Given the description of an element on the screen output the (x, y) to click on. 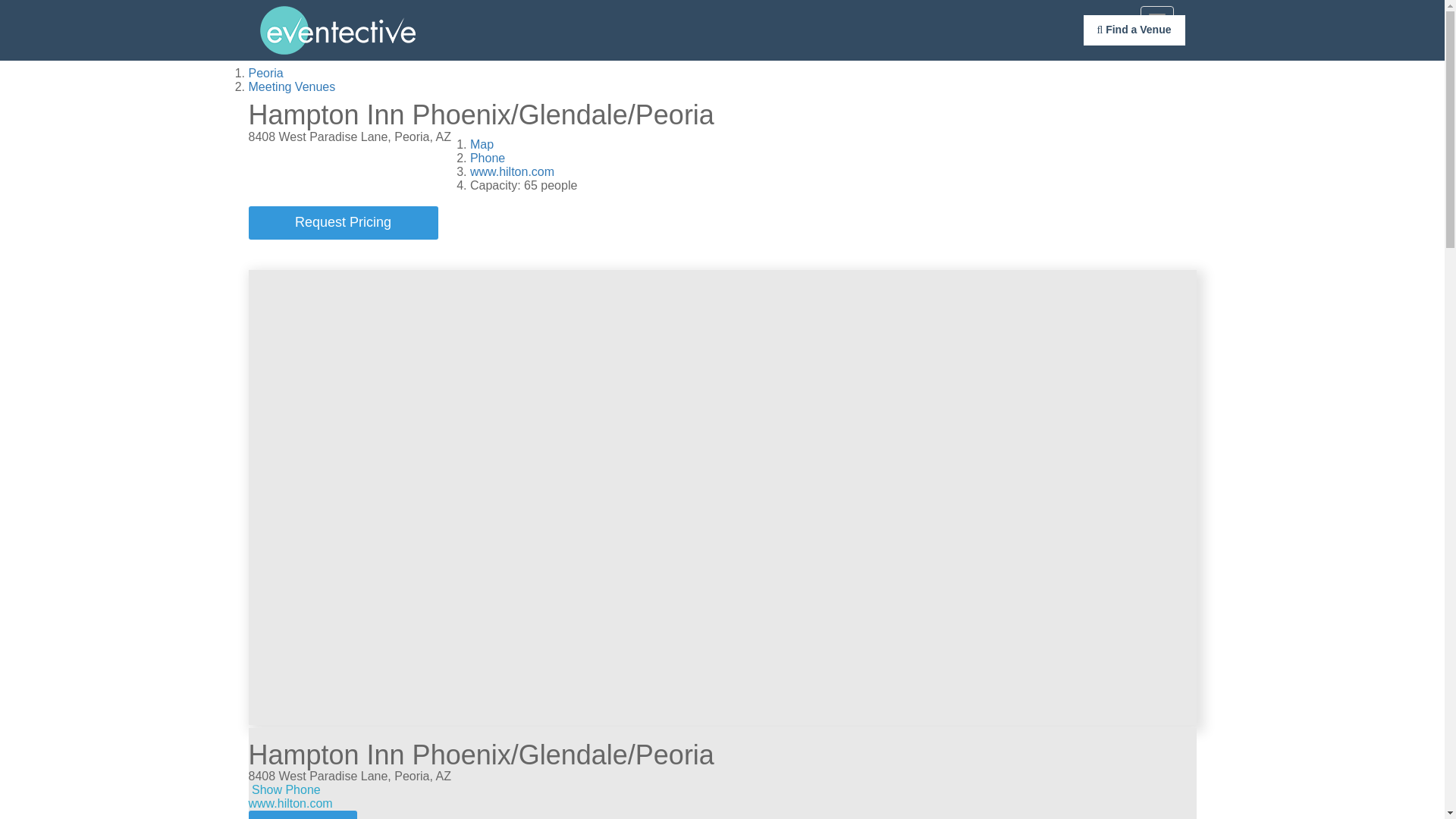
Show Phone (285, 789)
www.hilton.com (290, 802)
Map (481, 144)
www.hilton.com (512, 171)
Peoria (265, 72)
Meeting Venues (292, 86)
Request Pricing (343, 222)
Request Pricing (302, 814)
Phone (487, 157)
Request Pricing (302, 814)
Toggle navigation (1156, 18)
Request Pricing (343, 222)
Find a Venue (1134, 30)
